Given the description of an element on the screen output the (x, y) to click on. 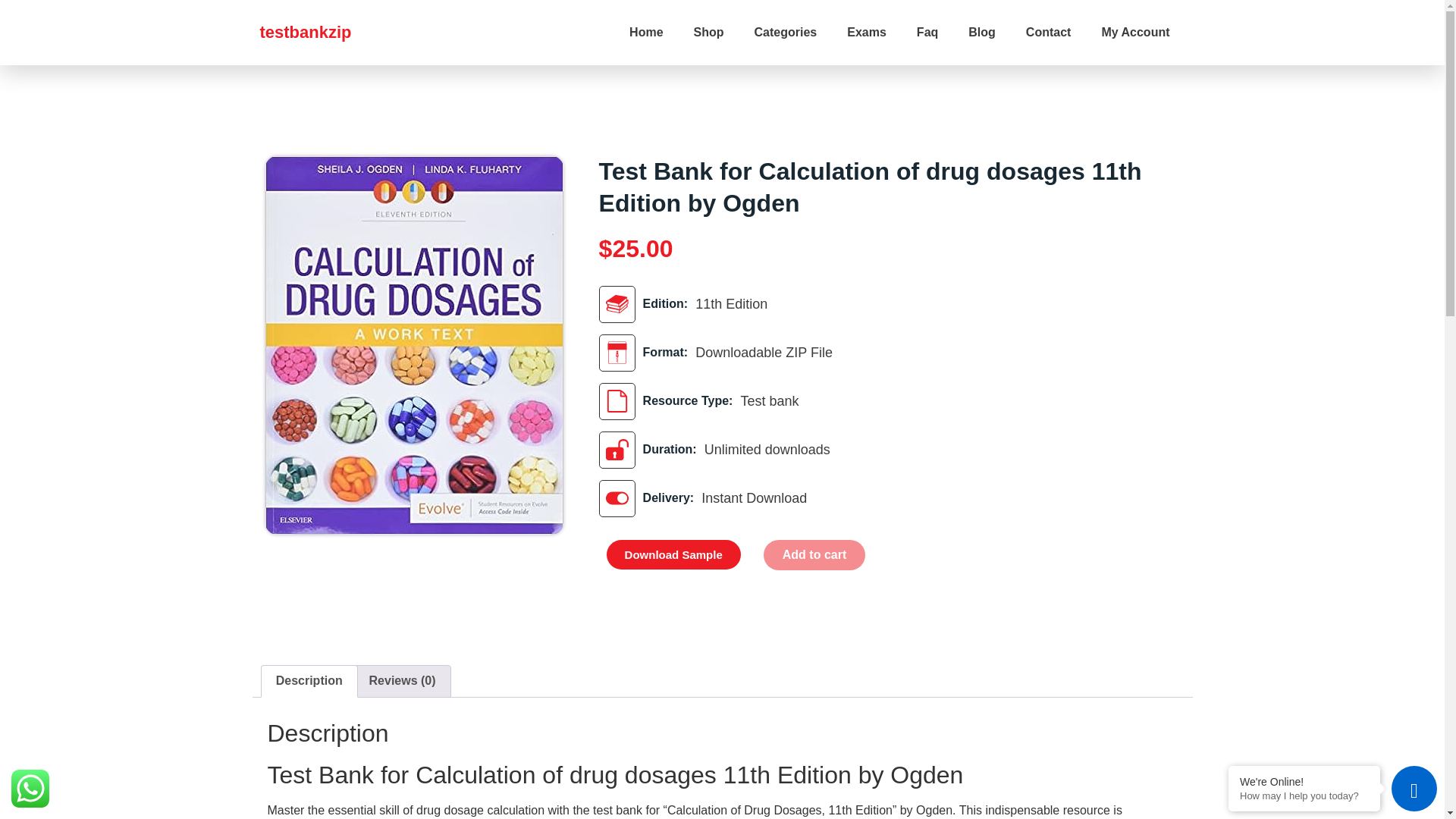
PayPal (831, 583)
How may I help you today? (1304, 795)
testbankzip (304, 31)
Exams (866, 32)
Faq (927, 32)
Download Sample (674, 554)
Home (646, 32)
Contact (1048, 32)
Shop (708, 32)
We're Online! (1304, 781)
Categories (785, 32)
My Account (1135, 32)
Add to cart (813, 554)
Blog (981, 32)
Description (308, 681)
